Given the description of an element on the screen output the (x, y) to click on. 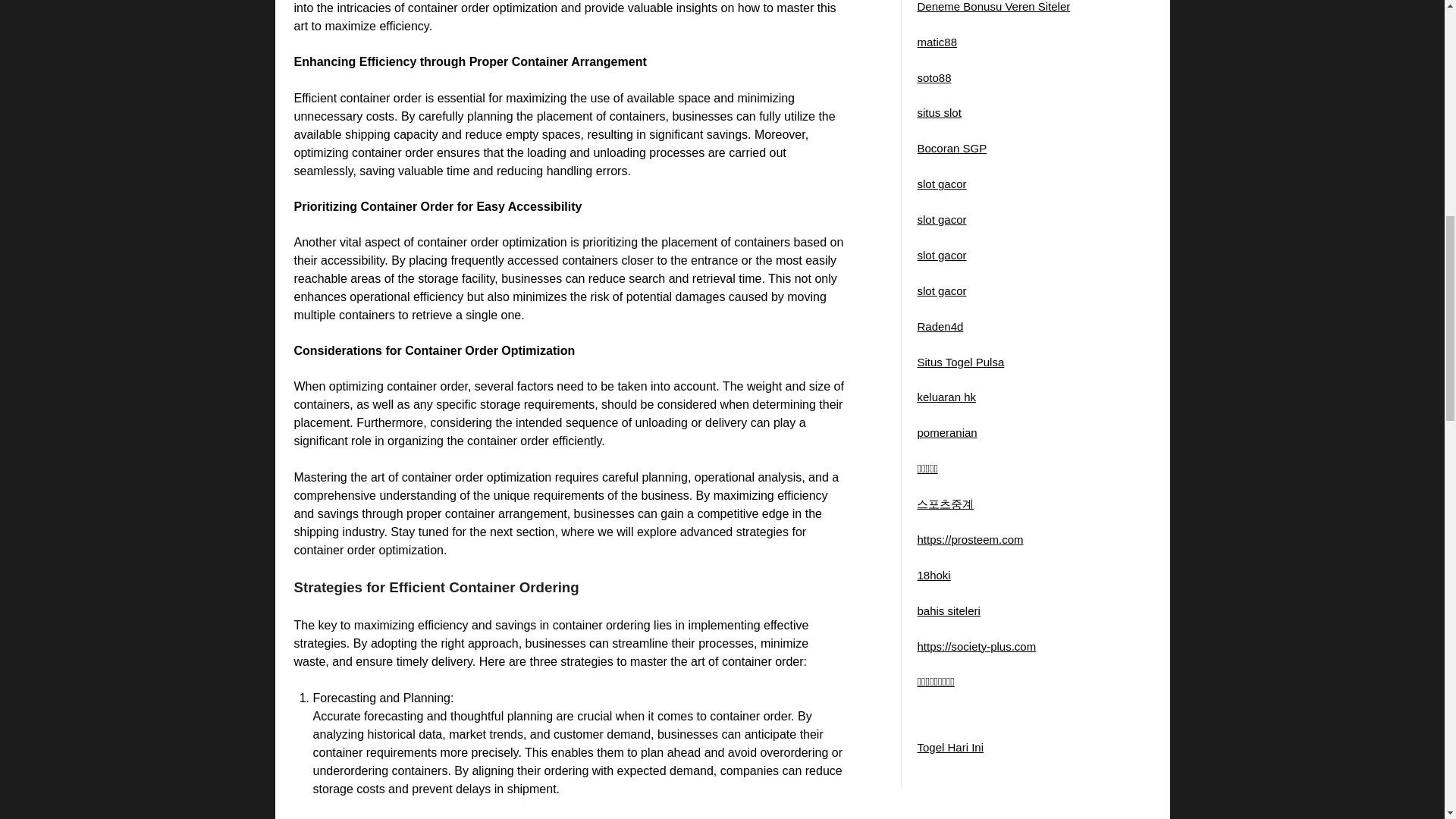
Bocoran SGP (952, 147)
soto88 (933, 77)
matic88 (936, 42)
slot gacor (941, 290)
Situs Togel Pulsa (960, 360)
pomeranian (946, 431)
keluaran hk (946, 396)
Raden4d (939, 326)
slot gacor (941, 183)
slot gacor (941, 219)
Deneme Bonusu Veren Siteler (993, 6)
situs slot (938, 112)
slot gacor (941, 254)
